Given the description of an element on the screen output the (x, y) to click on. 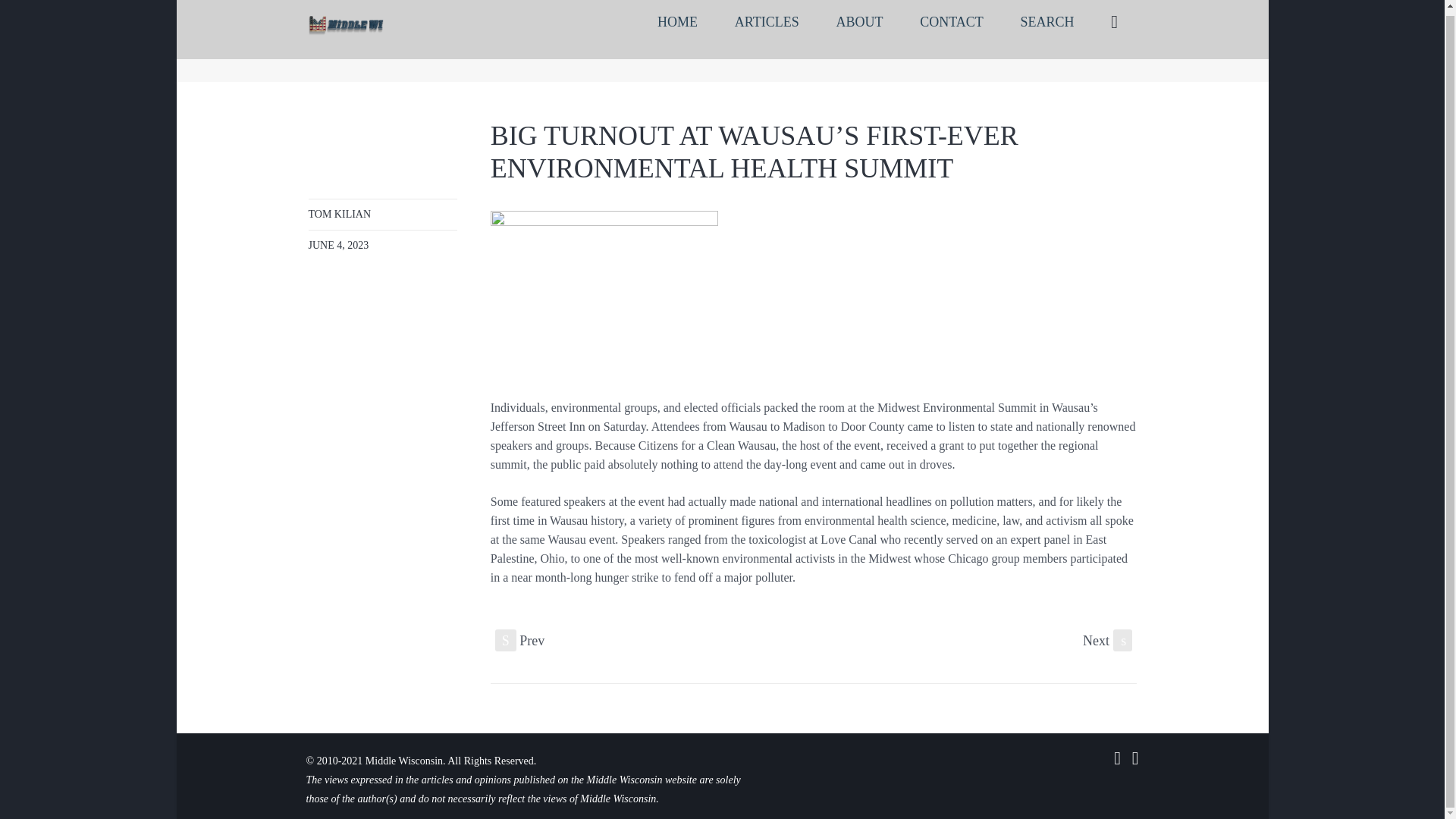
HOME (677, 24)
ABOUT (859, 24)
Next s (1107, 640)
SEARCH (1047, 24)
ARTICLES (766, 24)
Posts by Tom Kilian (339, 214)
CONTACT (951, 24)
S Prev (519, 640)
TOM KILIAN (339, 214)
